Given the description of an element on the screen output the (x, y) to click on. 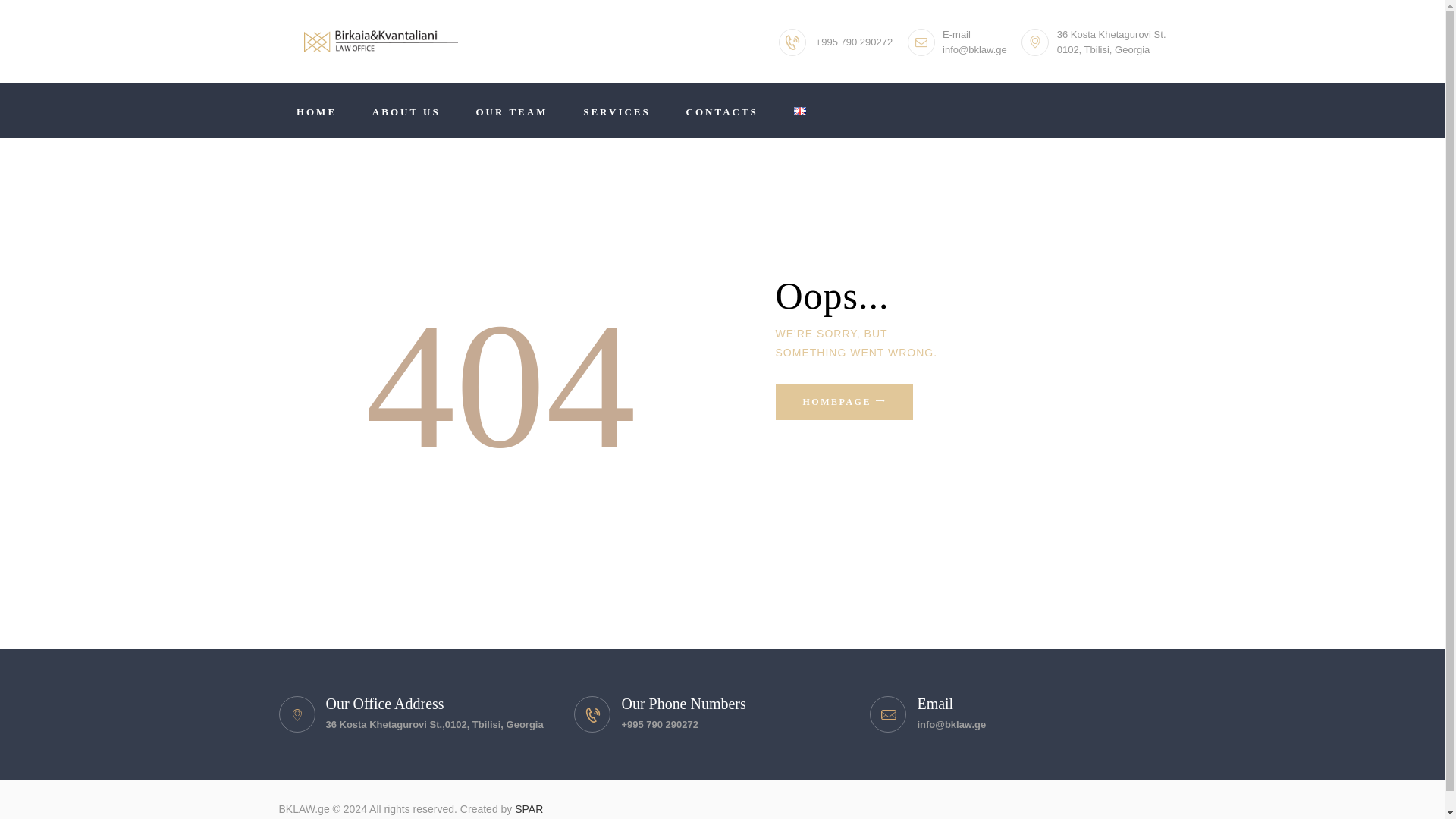
HOME (317, 110)
ABOUT US (405, 110)
CONTACTS (722, 110)
OUR TEAM (512, 110)
SERVICES (617, 110)
SPAR (529, 808)
HOMEPAGE (843, 402)
